Given the description of an element on the screen output the (x, y) to click on. 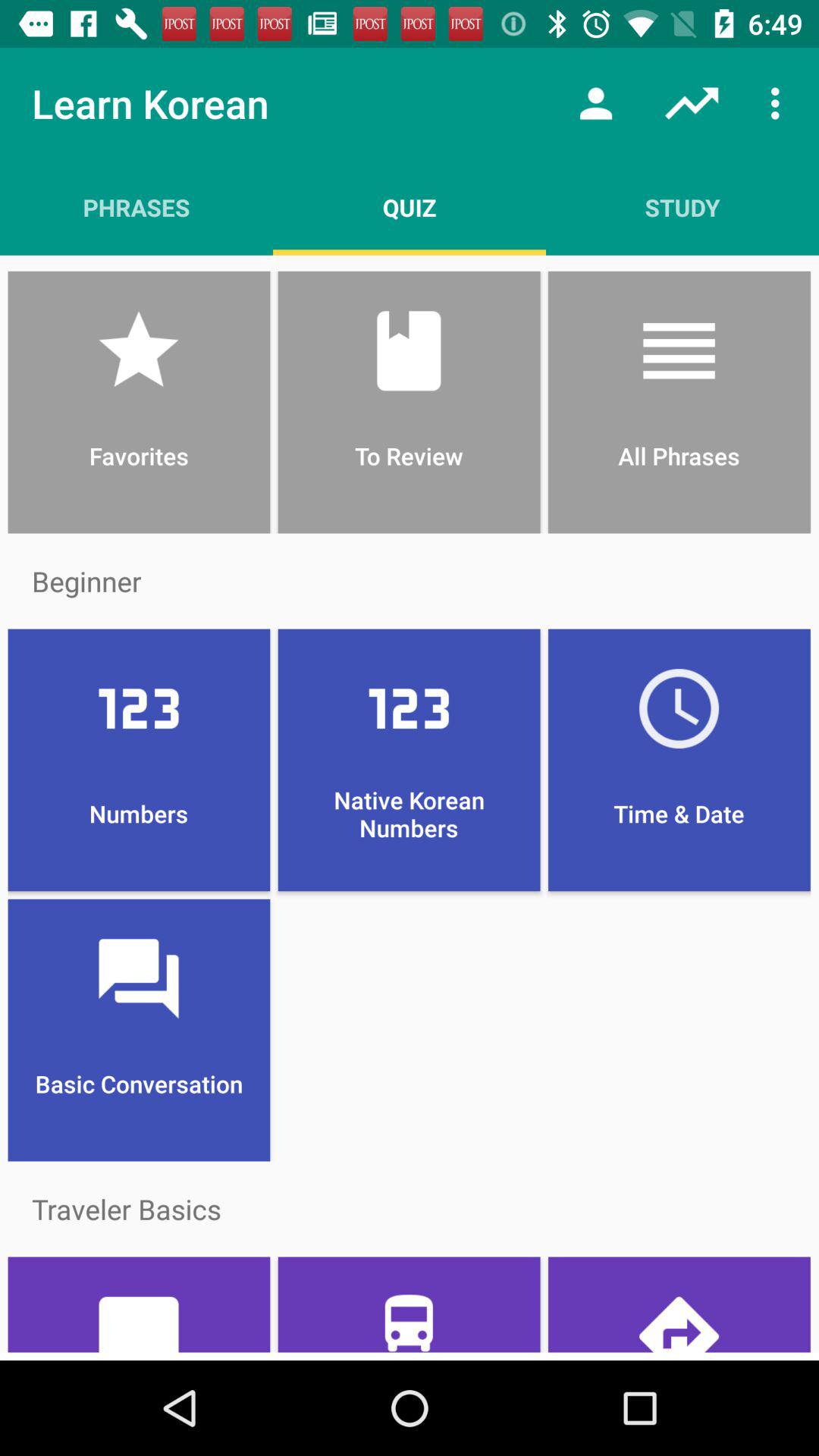
open icon next to phrases (409, 207)
